Given the description of an element on the screen output the (x, y) to click on. 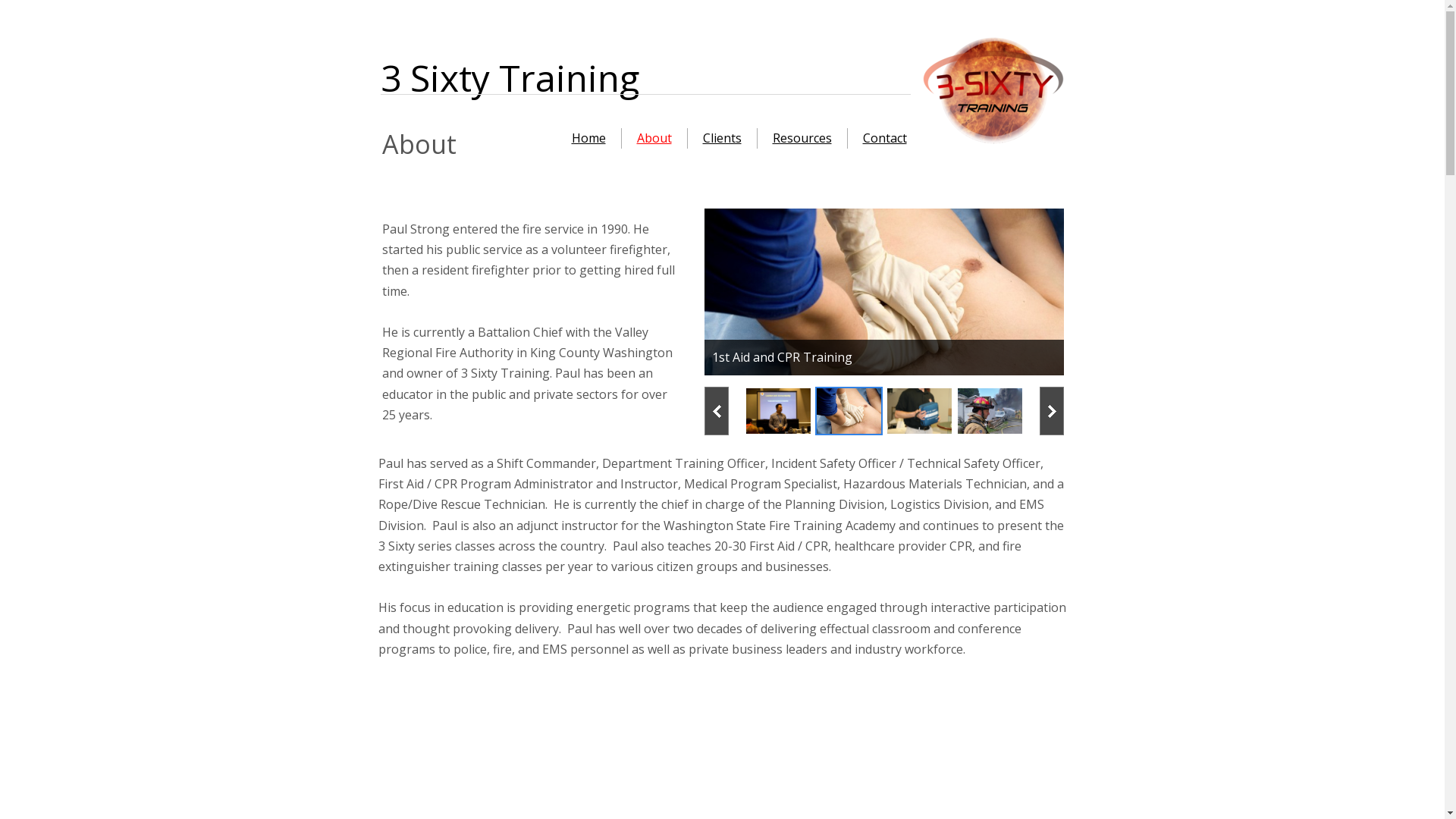
About Element type: text (654, 137)
Clients Element type: text (721, 137)
Home Element type: text (588, 137)
Contact Element type: text (884, 137)
Resources Element type: text (801, 137)
